Given the description of an element on the screen output the (x, y) to click on. 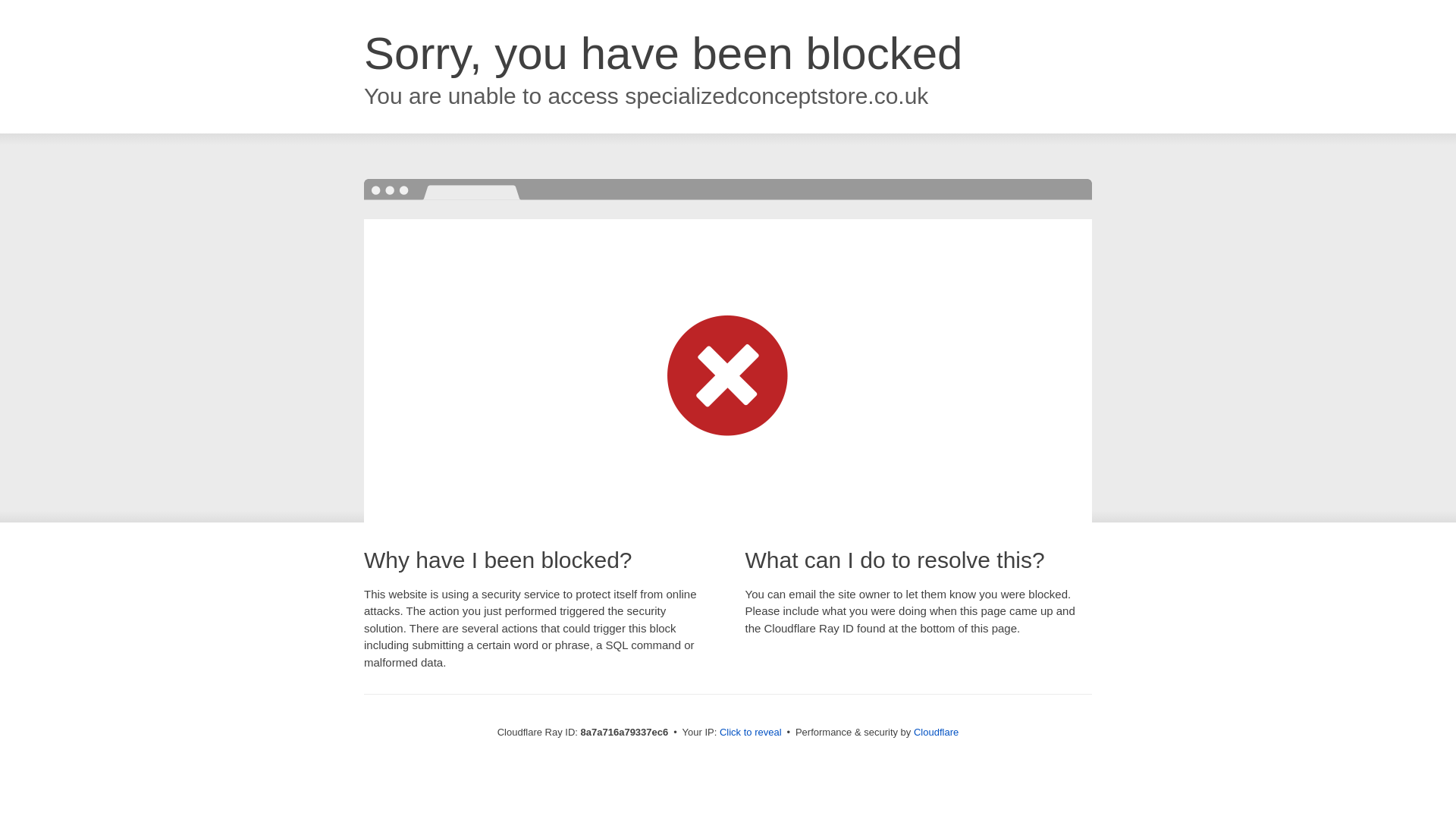
Click to reveal (750, 732)
Cloudflare (936, 731)
